Given the description of an element on the screen output the (x, y) to click on. 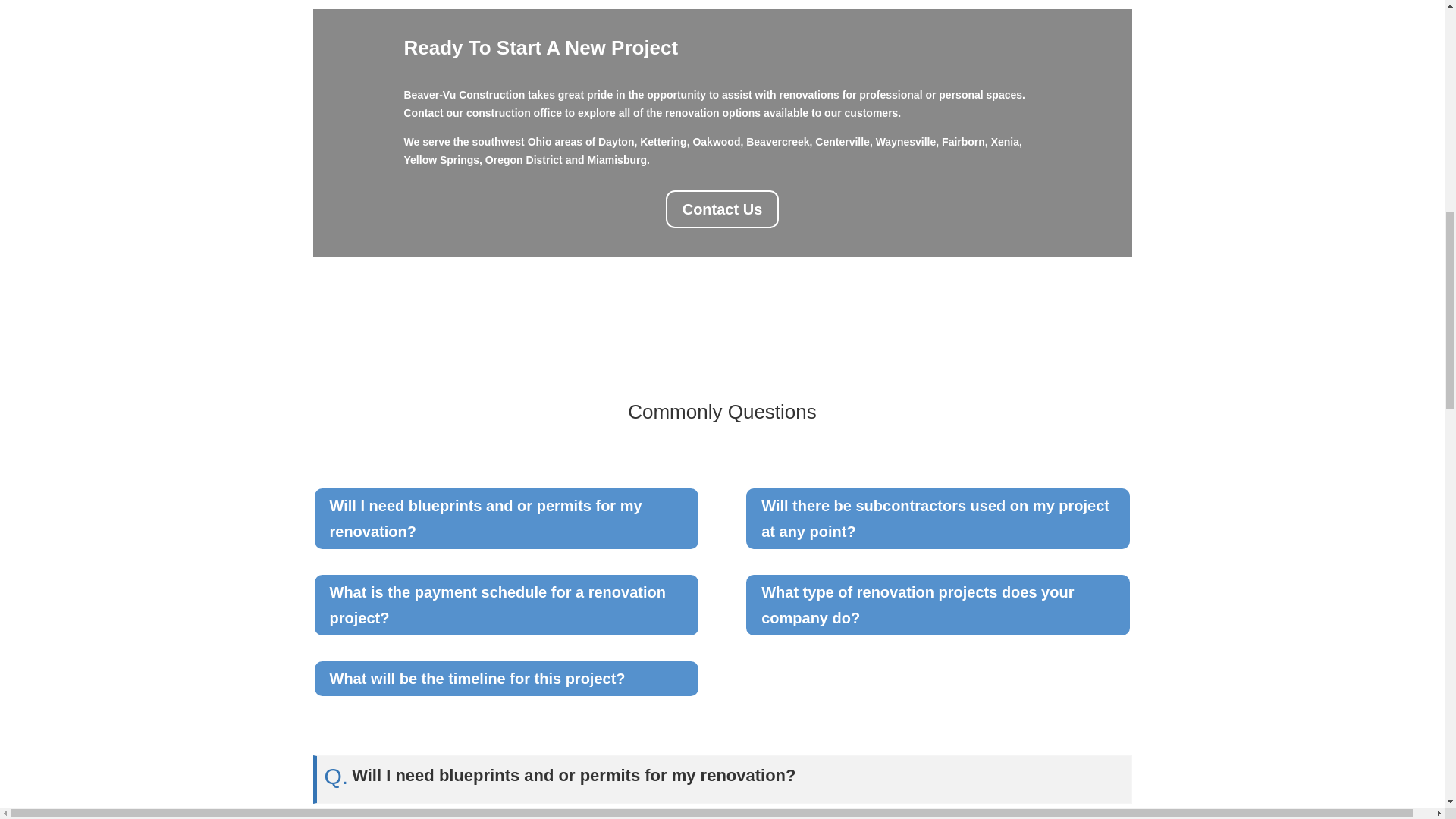
What is the payment schedule for a renovation project? (505, 605)
What will be the timeline for this project? (505, 678)
Contact Us (721, 209)
What type of renovation projects does your company do? (937, 605)
Will I need blueprints and or permits for my renovation? (505, 518)
